Given the description of an element on the screen output the (x, y) to click on. 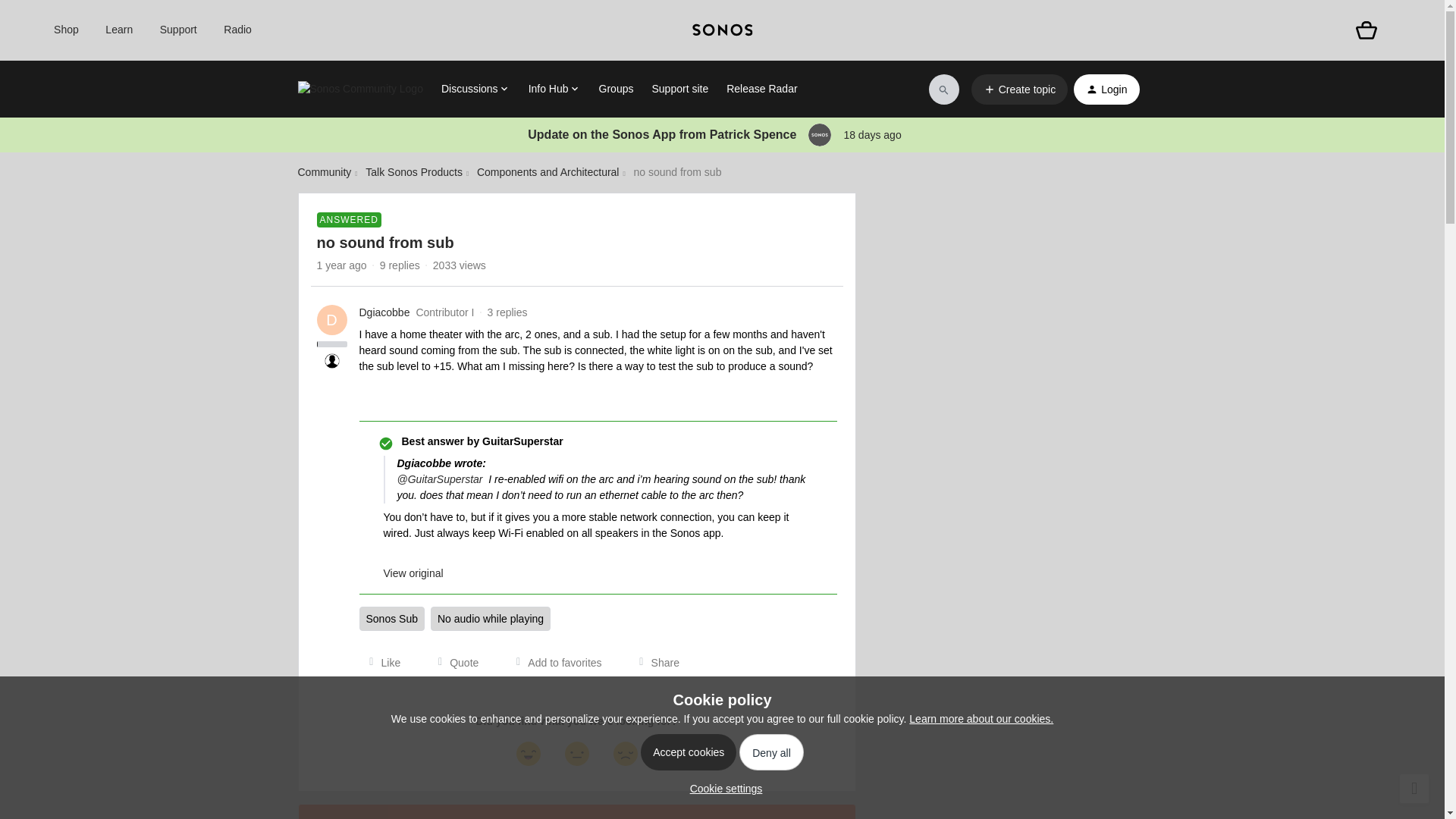
Discussions (476, 88)
Radio (237, 30)
Learn (118, 30)
Shop (65, 30)
Support (178, 30)
